Given the description of an element on the screen output the (x, y) to click on. 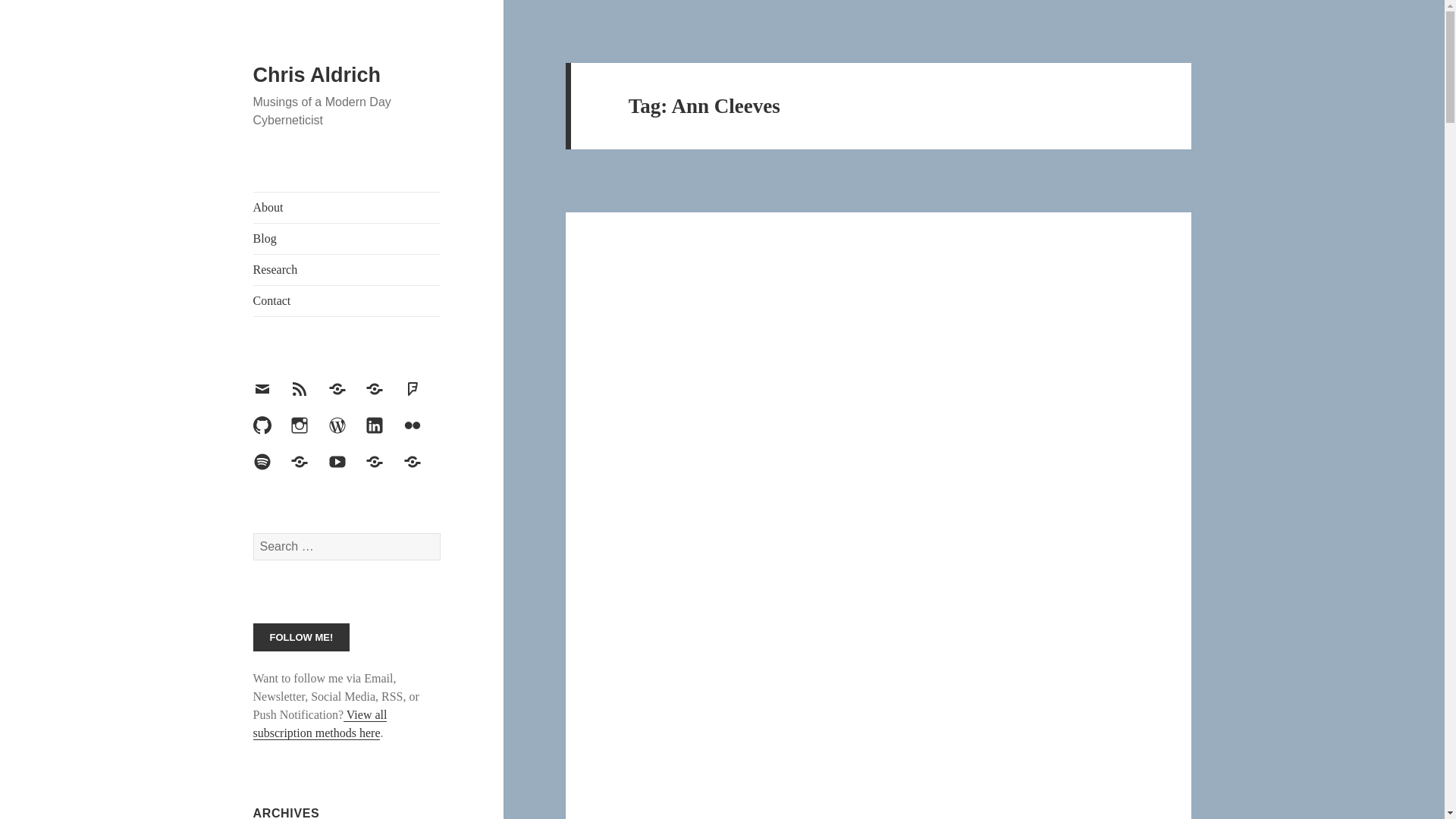
Follow Me! (301, 637)
Chris Aldrich (317, 74)
Blog (347, 238)
About (347, 207)
